Given the description of an element on the screen output the (x, y) to click on. 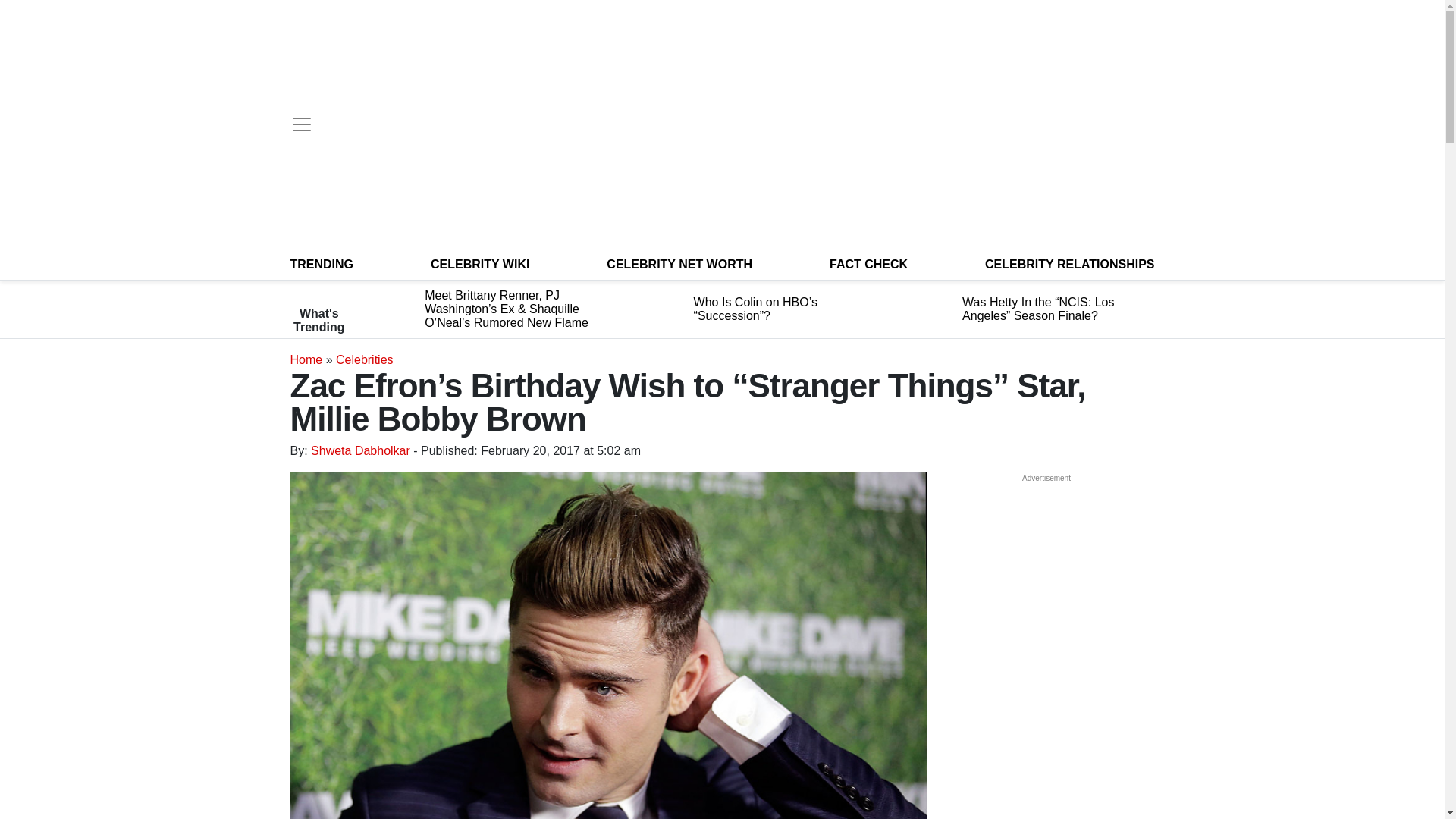
TRENDING (321, 264)
Shweta Dabholkar (360, 450)
CELEBRITY WIKI (479, 264)
CELEBRITY RELATIONSHIPS (1069, 264)
Home (305, 359)
CELEBRITY NET WORTH (679, 264)
Posts by Shweta Dabholkar (360, 450)
FACT CHECK (868, 264)
Celebrities (364, 359)
Menu (301, 124)
